Given the description of an element on the screen output the (x, y) to click on. 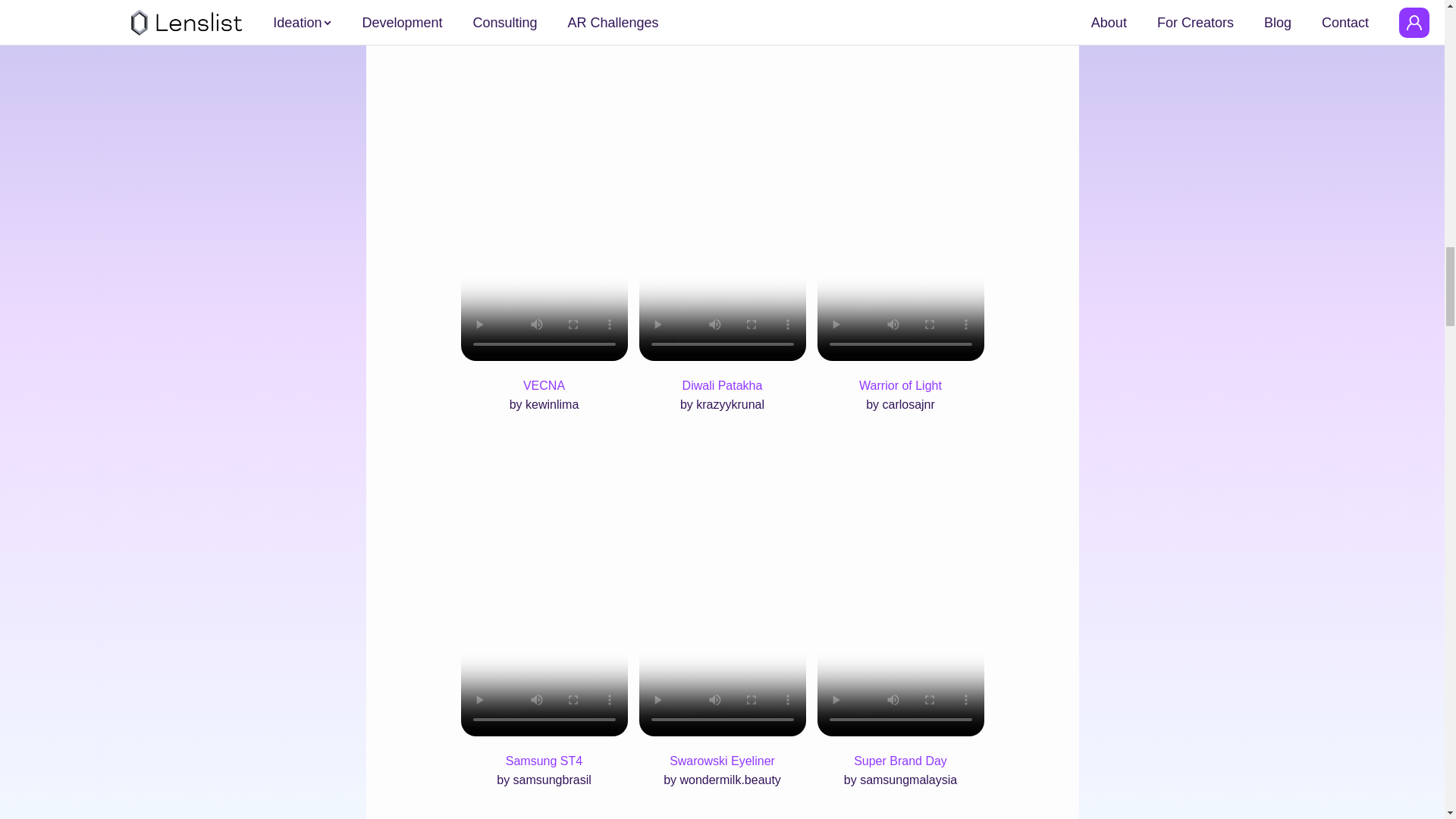
GOLD (659, 17)
Swarowski Eyeliner (721, 760)
FACE MASK (578, 17)
Samsung ST4 (543, 760)
Diwali Patakha (722, 385)
Warrior of Light (900, 385)
VECNA (543, 385)
MAGIC (496, 17)
Super Brand Day (900, 760)
